Given the description of an element on the screen output the (x, y) to click on. 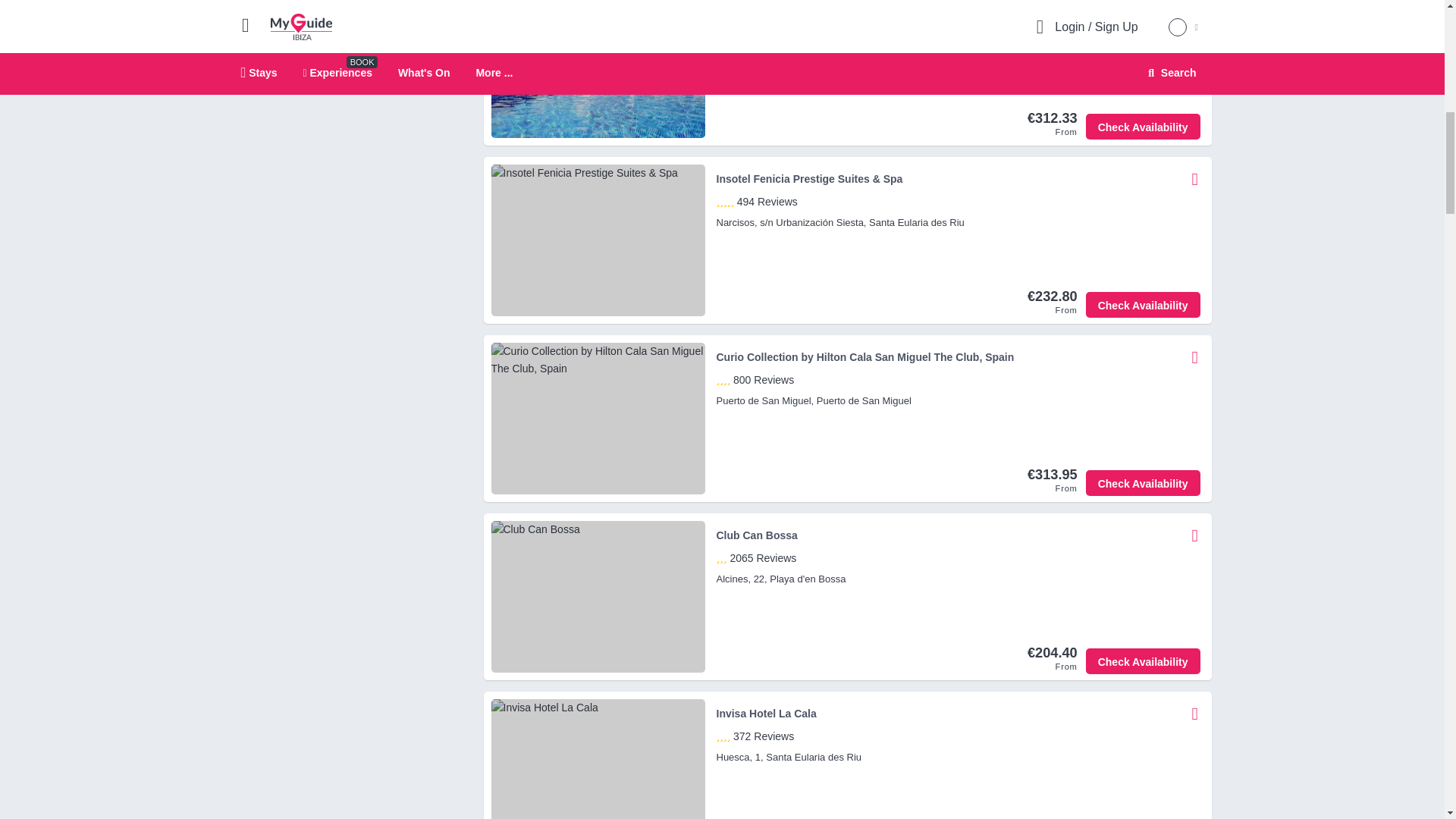
Add to My Guide (1193, 7)
Add to My Guide (1195, 7)
